Given the description of an element on the screen output the (x, y) to click on. 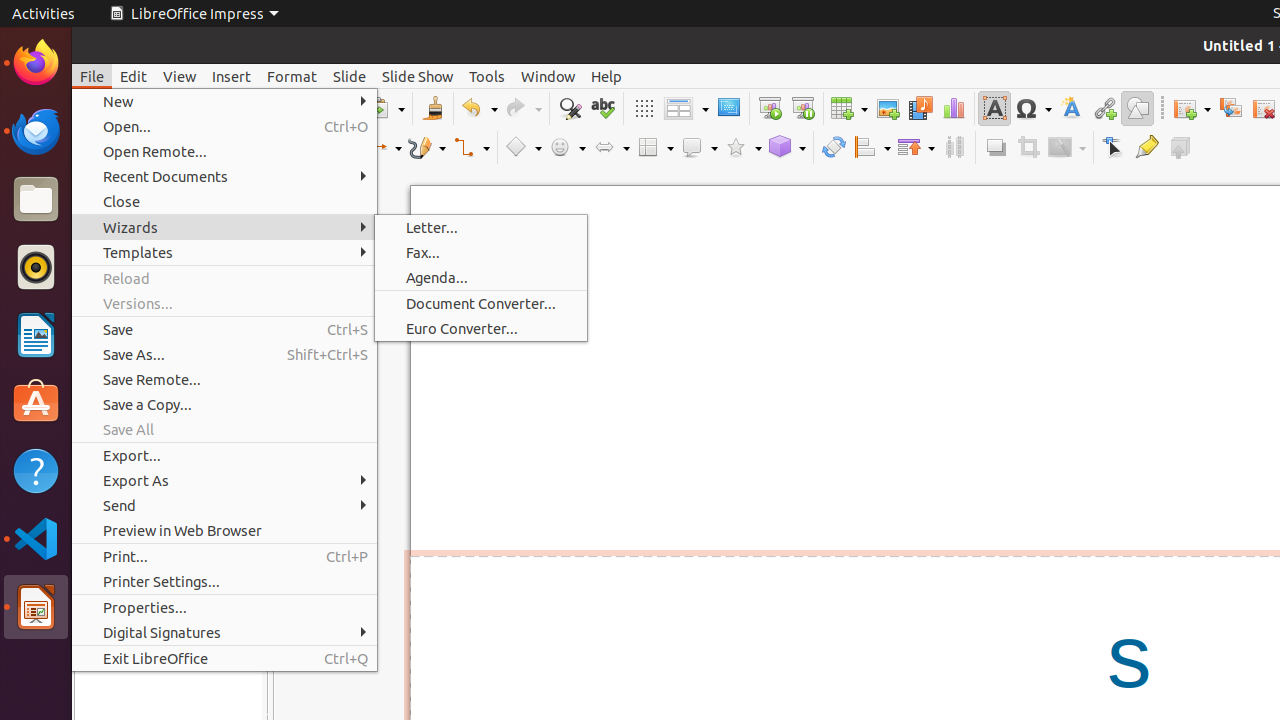
Printer Settings... Element type: menu-item (224, 581)
Open... Element type: menu-item (224, 126)
Format Element type: menu (292, 76)
Templates Element type: menu (224, 252)
Versions... Element type: menu-item (224, 303)
